Given the description of an element on the screen output the (x, y) to click on. 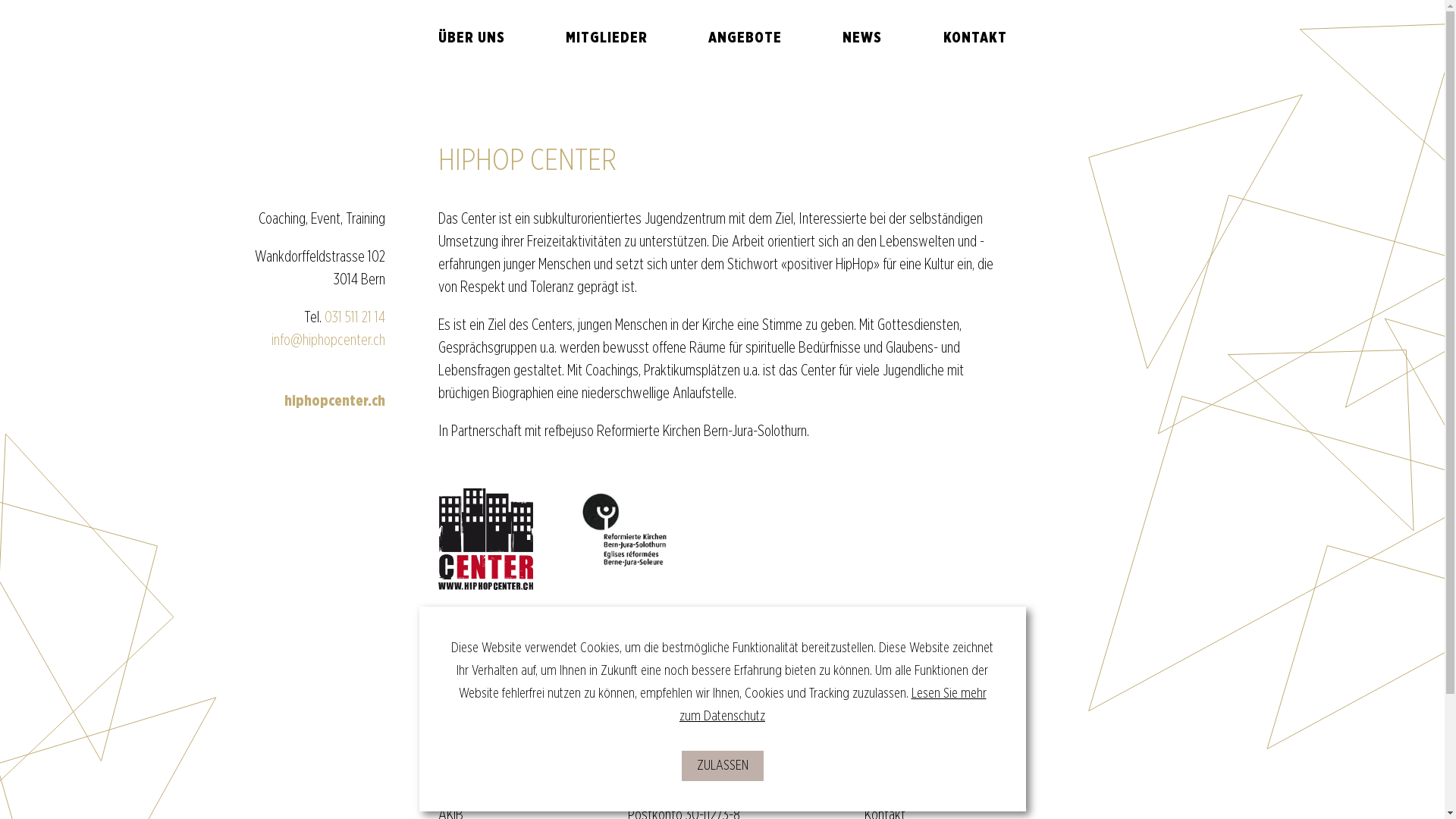
MITGLIEDER Element type: text (606, 37)
NEWS Element type: text (861, 37)
hiphopcenter.ch Element type: text (333, 400)
KONTAKT Element type: text (975, 37)
ANGEBOTE Element type: text (744, 37)
logo-hiphop-center Element type: hover (485, 538)
031 511 21 14 Element type: text (354, 317)
Logo Refbejuso Element type: hover (627, 531)
ZULASSEN Element type: text (721, 765)
info@hiphopcenter.ch Element type: text (328, 340)
VORSTAND Element type: text (474, 67)
Lesen Sie mehr zum Datenschutz Element type: text (832, 705)
